Given the description of an element on the screen output the (x, y) to click on. 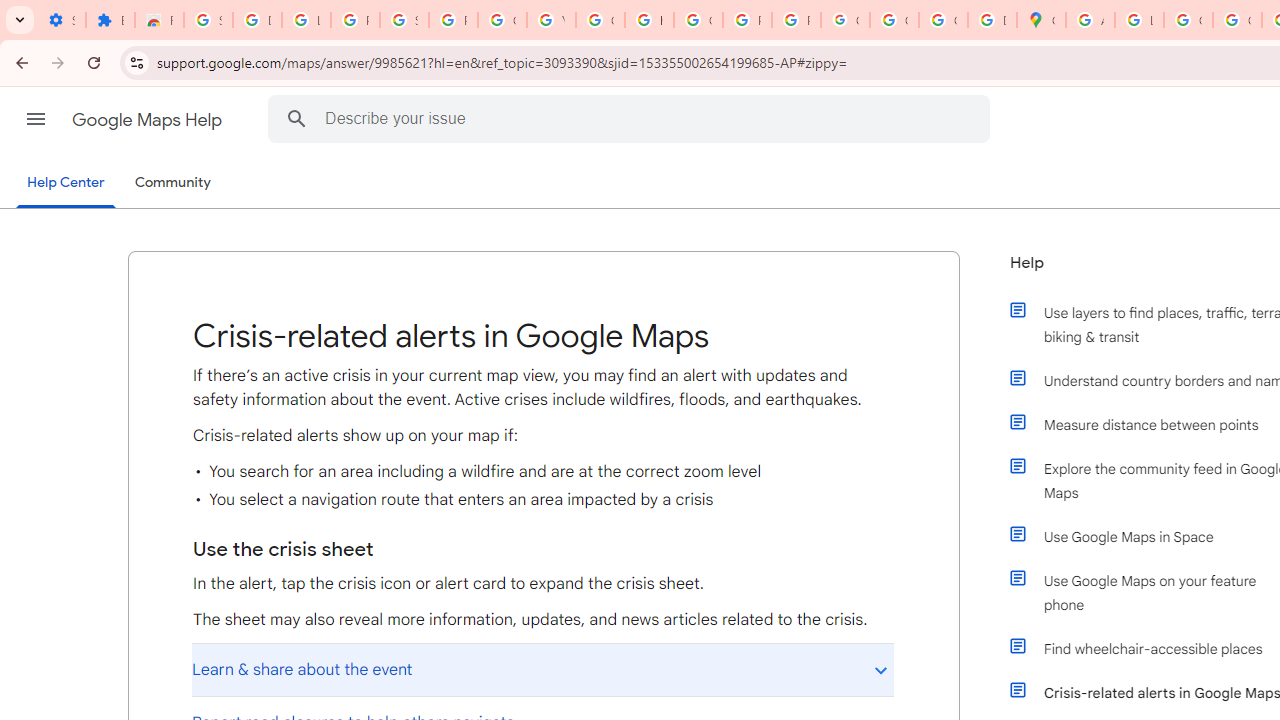
Community (171, 183)
Learn & share about the event (542, 669)
Settings - On startup (61, 20)
Create your Google Account (1188, 20)
